Given the description of an element on the screen output the (x, y) to click on. 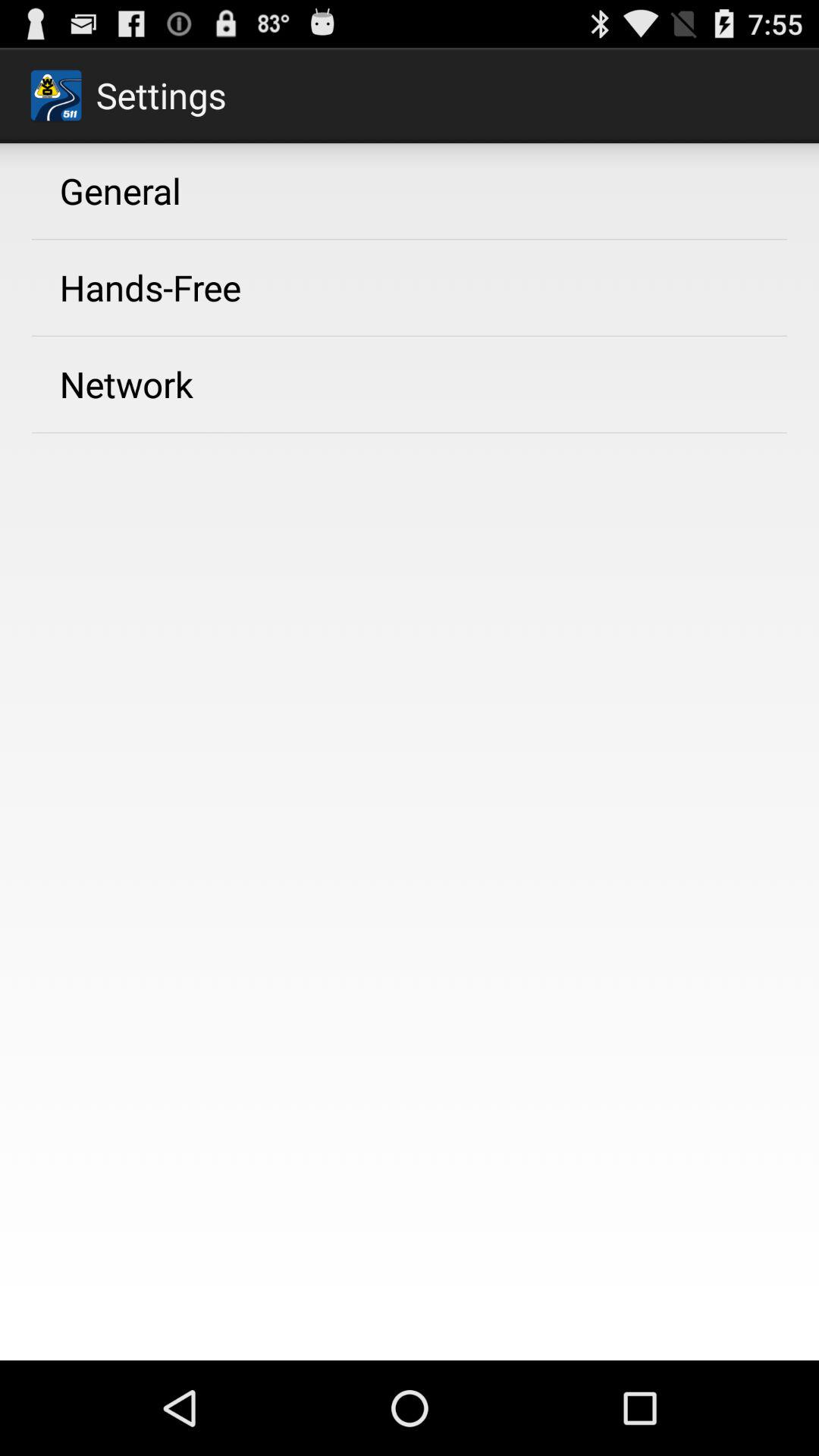
open general app (119, 190)
